Given the description of an element on the screen output the (x, y) to click on. 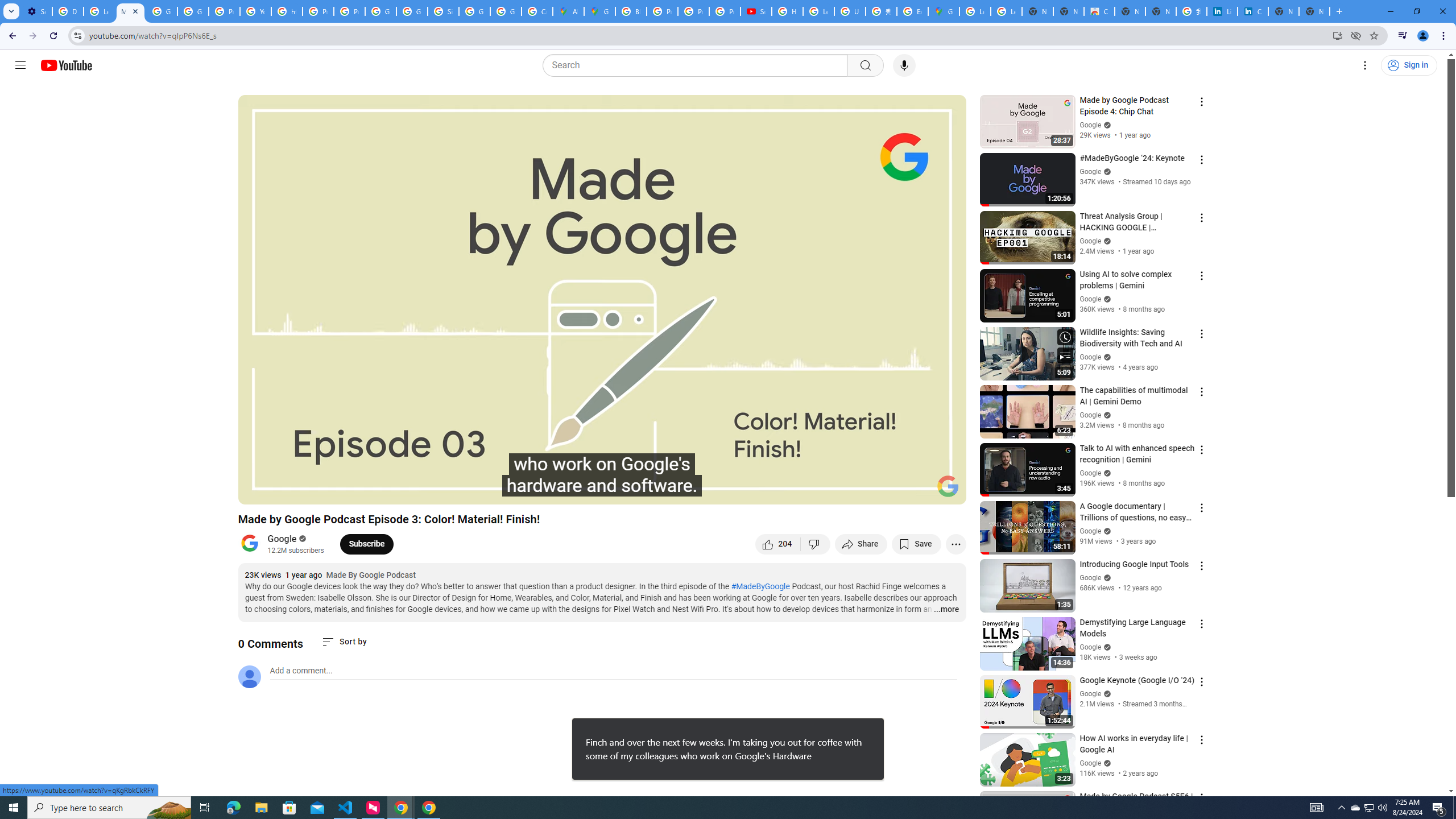
Made By Google Podcast (371, 575)
Blogger Policies and Guidelines - Transparency Center (631, 11)
How Chrome protects your passwords - Google Chrome Help (787, 11)
Delete photos & videos - Computer - Google Photos Help (67, 11)
#MadeByGoogle (760, 586)
